Given the description of an element on the screen output the (x, y) to click on. 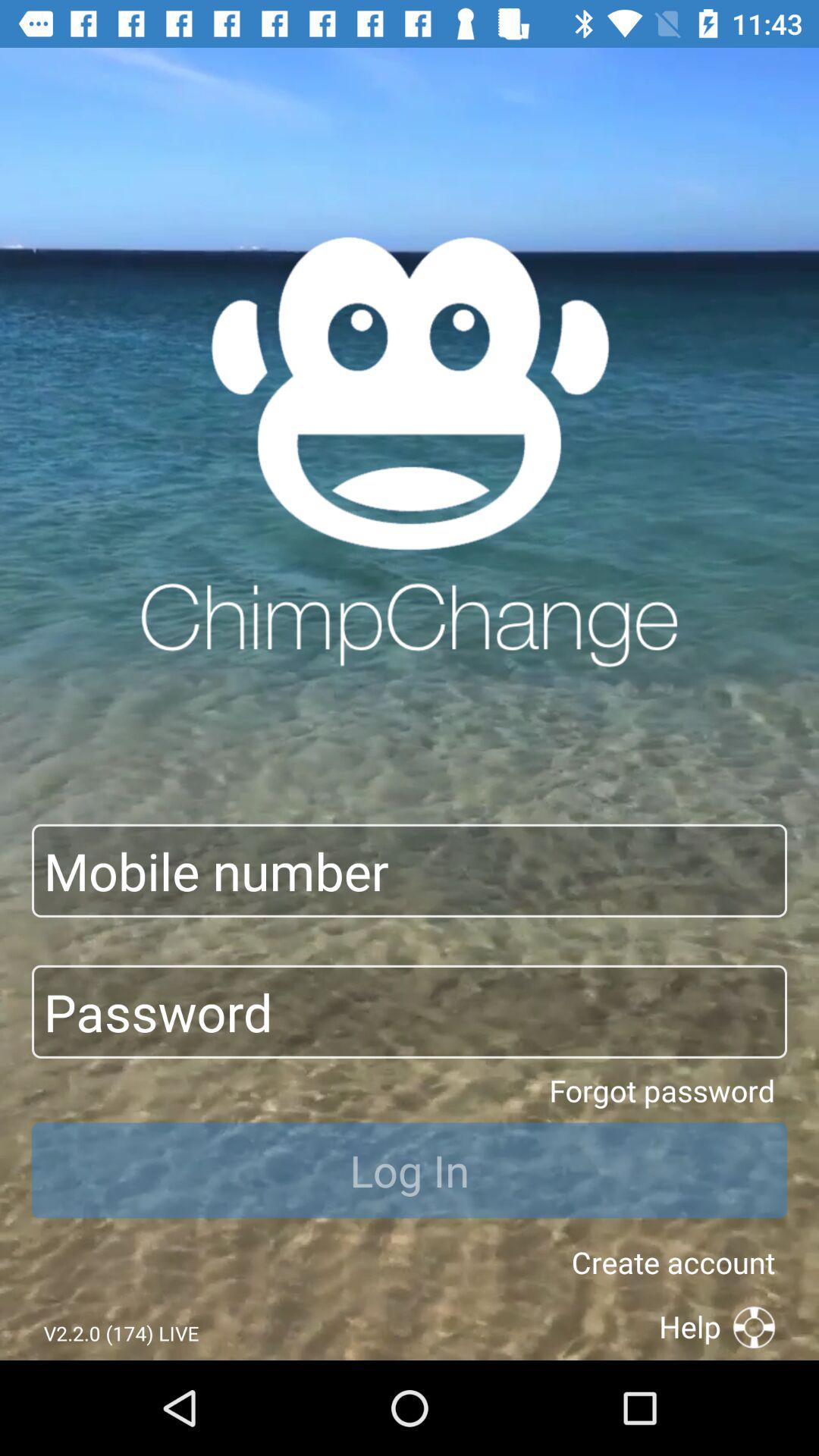
type the password (409, 1011)
